Given the description of an element on the screen output the (x, y) to click on. 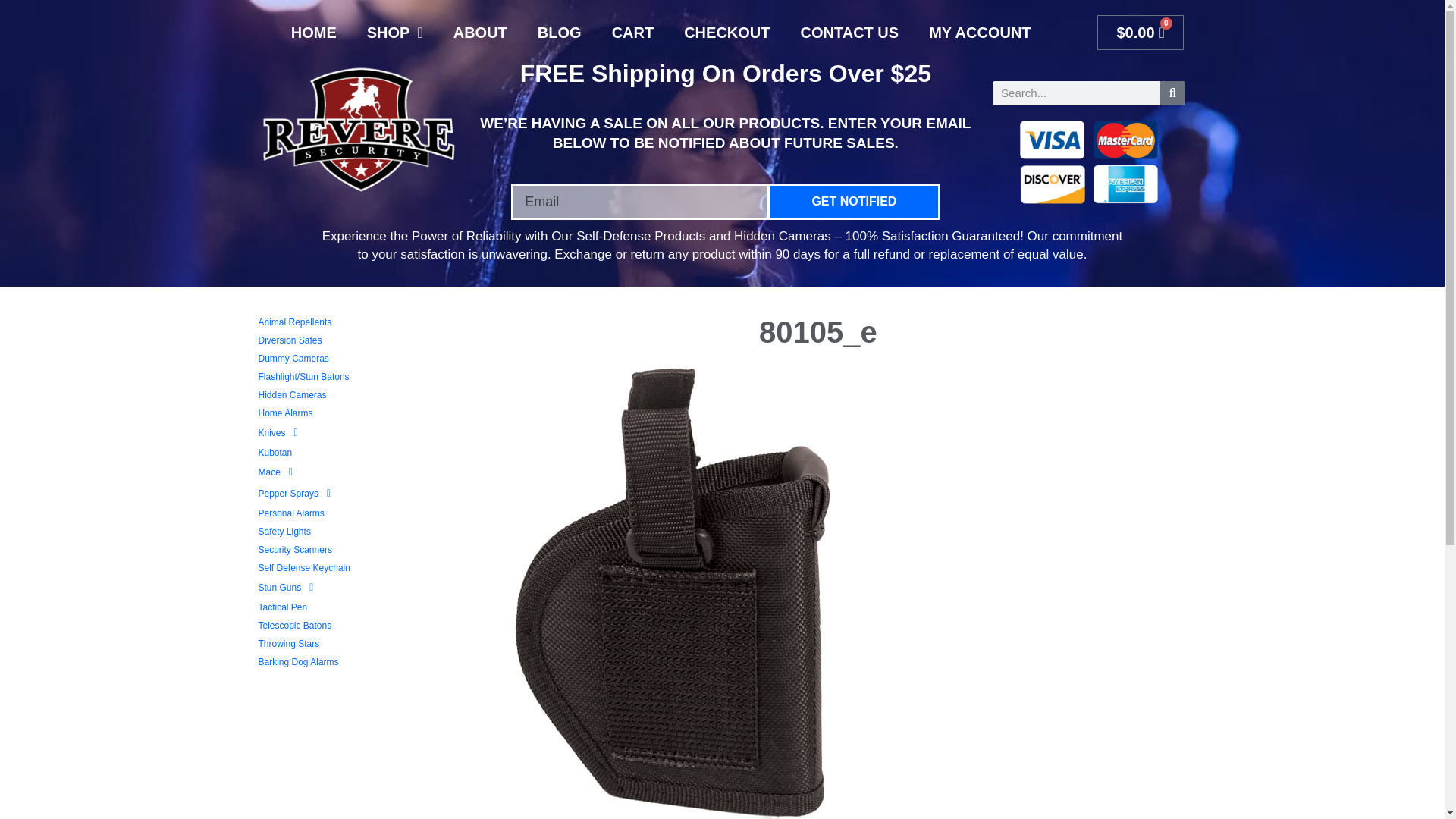
SHOP (395, 32)
MY ACCOUNT (979, 32)
CONTACT US (850, 32)
BLOG (559, 32)
CHECKOUT (726, 32)
CART (632, 32)
HOME (314, 32)
ABOUT (480, 32)
